Given the description of an element on the screen output the (x, y) to click on. 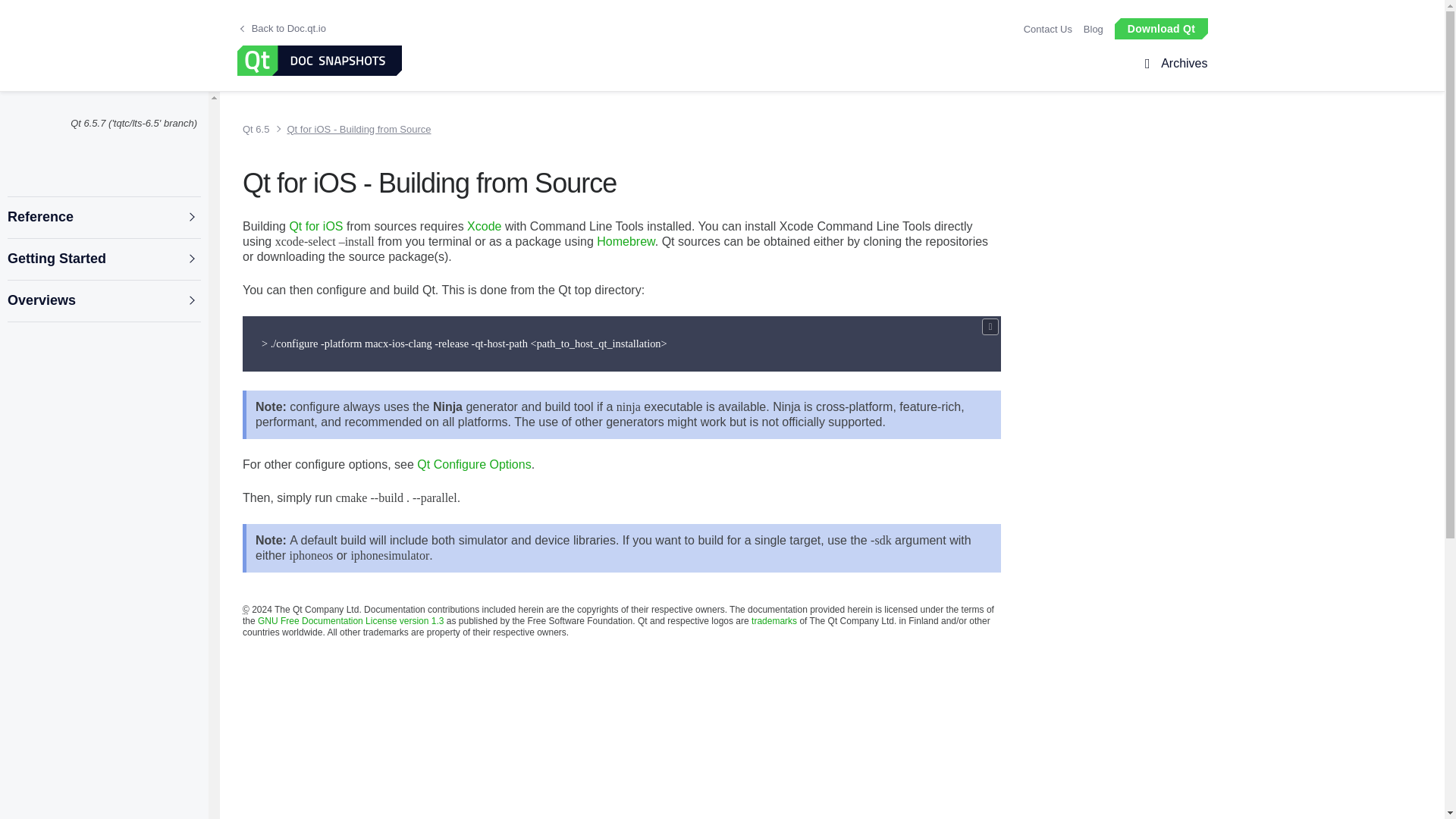
trademarks (773, 620)
Qt for iOS - Building from Source (352, 129)
Qt Configure Options (473, 463)
Overviews (103, 300)
Back to Doc.qt.io (282, 28)
Homebrew (624, 241)
Contact Us (1047, 28)
Qt for iOS (315, 226)
Xcode (483, 226)
Download Qt (1160, 27)
Reference (103, 217)
GNU Free Documentation License version 1.3 (350, 620)
Qt 6.5 (259, 129)
Archives (1181, 63)
Getting Started (103, 258)
